Given the description of an element on the screen output the (x, y) to click on. 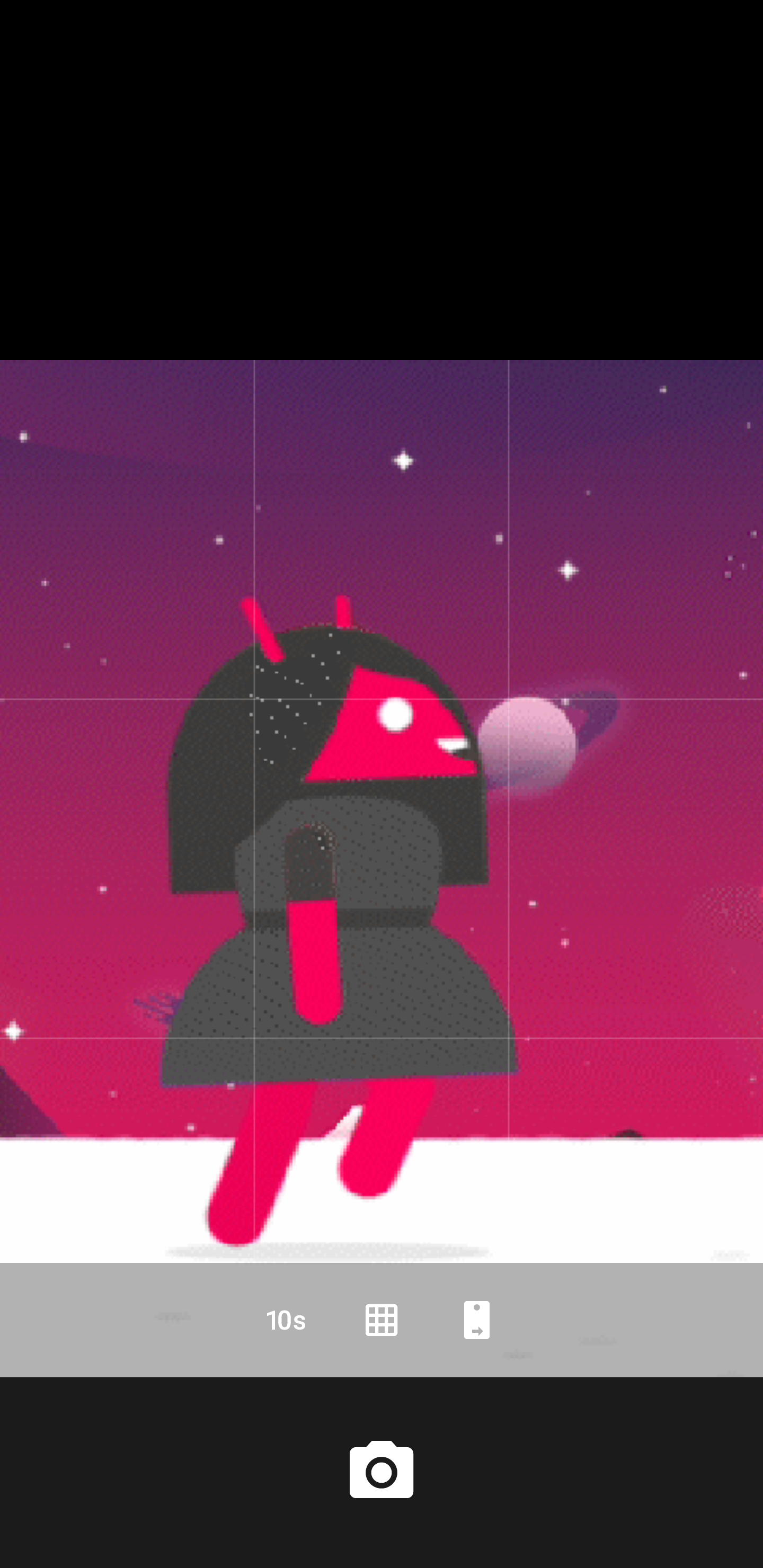
Countdown timer duration is set to 10 seconds (285, 1319)
Grid lines on (381, 1319)
Back camera (476, 1319)
Shutter (381, 1472)
